Given the description of an element on the screen output the (x, y) to click on. 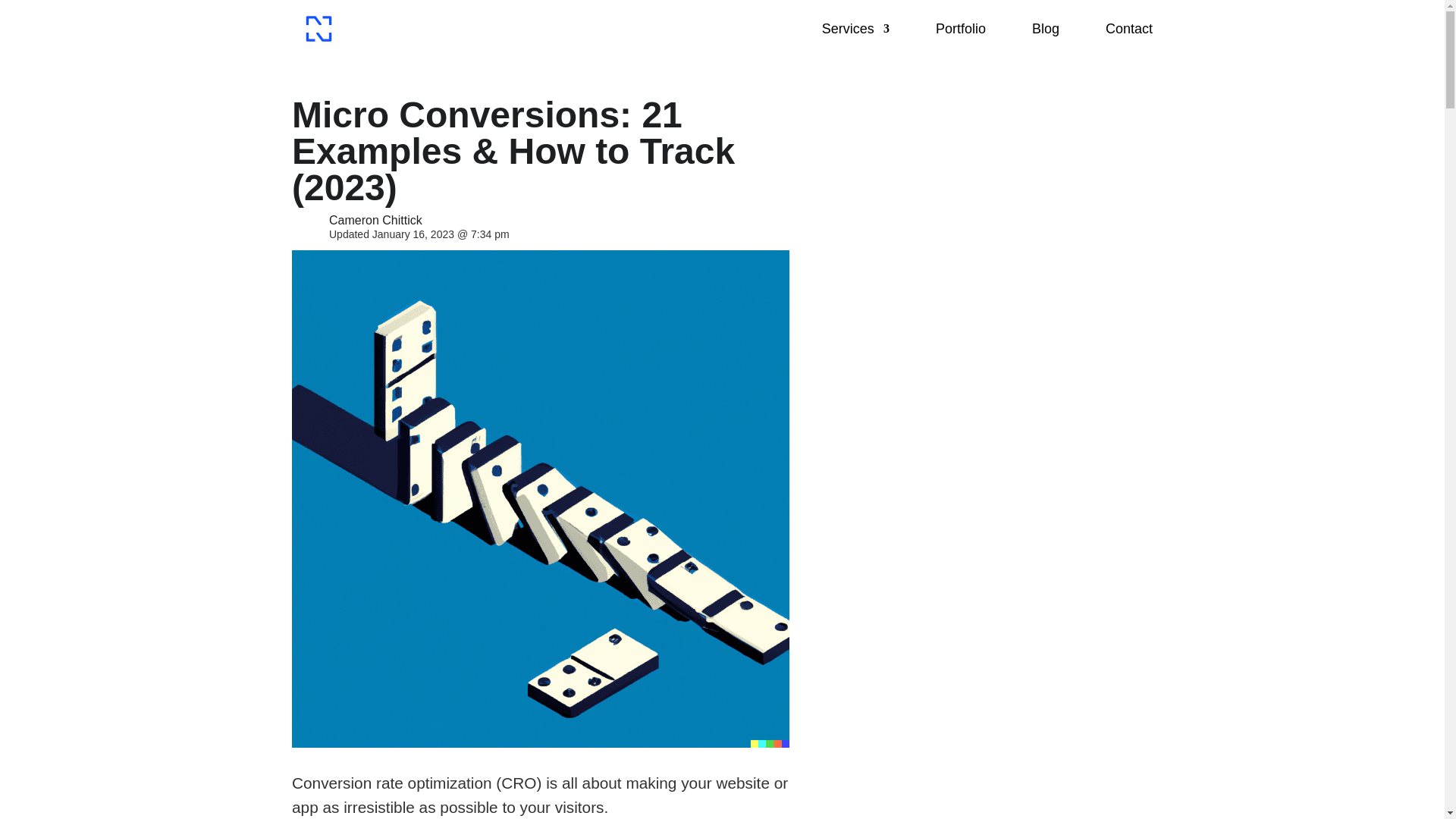
Cameron Chittick (375, 219)
Services (855, 28)
